Given the description of an element on the screen output the (x, y) to click on. 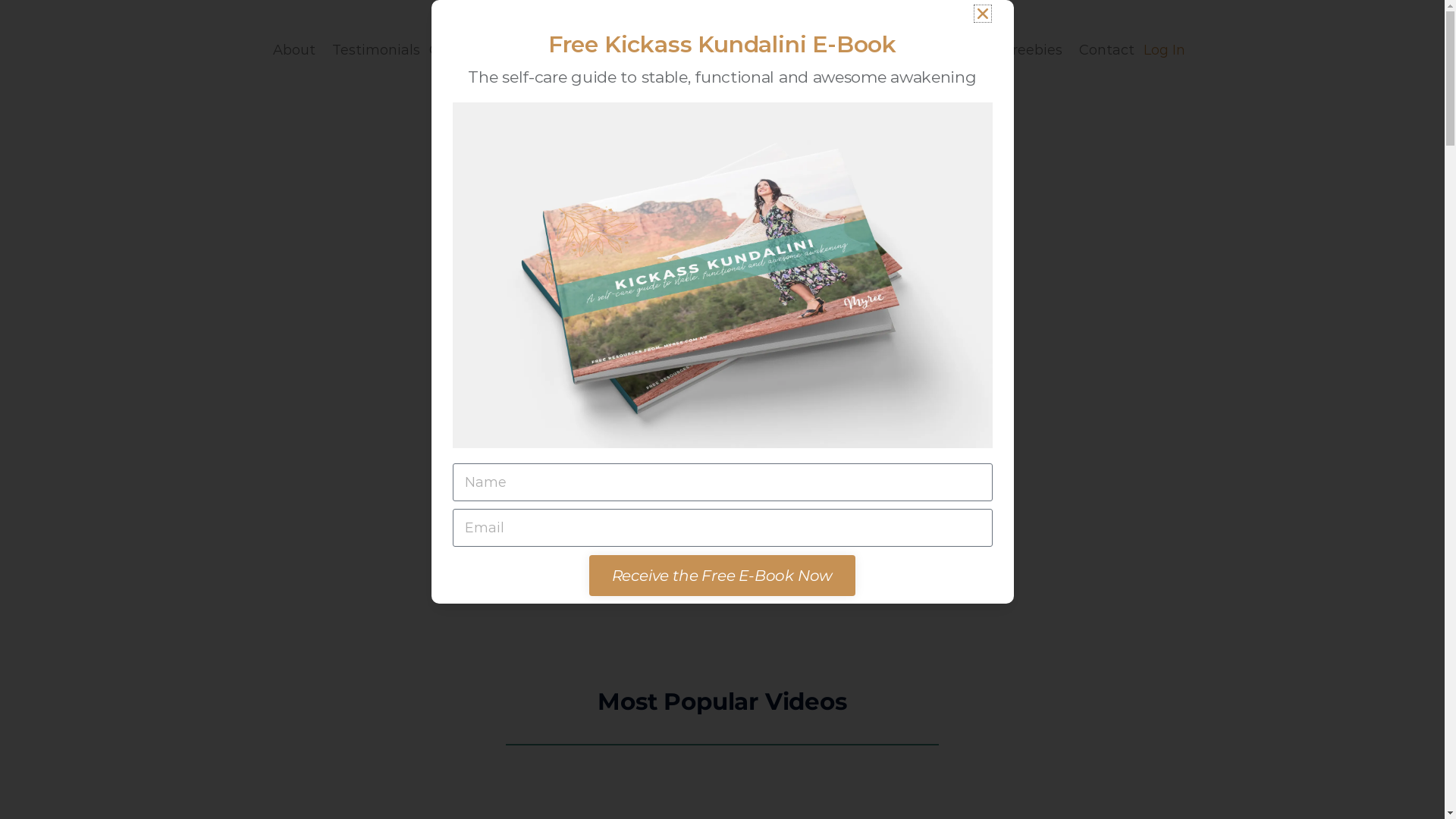
Awakening Element type: text (911, 49)
Watch this video Element type: text (737, 396)
Blog Element type: text (979, 49)
Courses Element type: text (538, 49)
About Element type: text (297, 49)
Testimonials Element type: text (375, 49)
Freebies Element type: text (1036, 49)
Contact Element type: text (1106, 49)
Receive the Free E-Book Now Element type: text (722, 575)
Coaching Element type: text (465, 49)
Log In Element type: text (1164, 49)
